Given the description of an element on the screen output the (x, y) to click on. 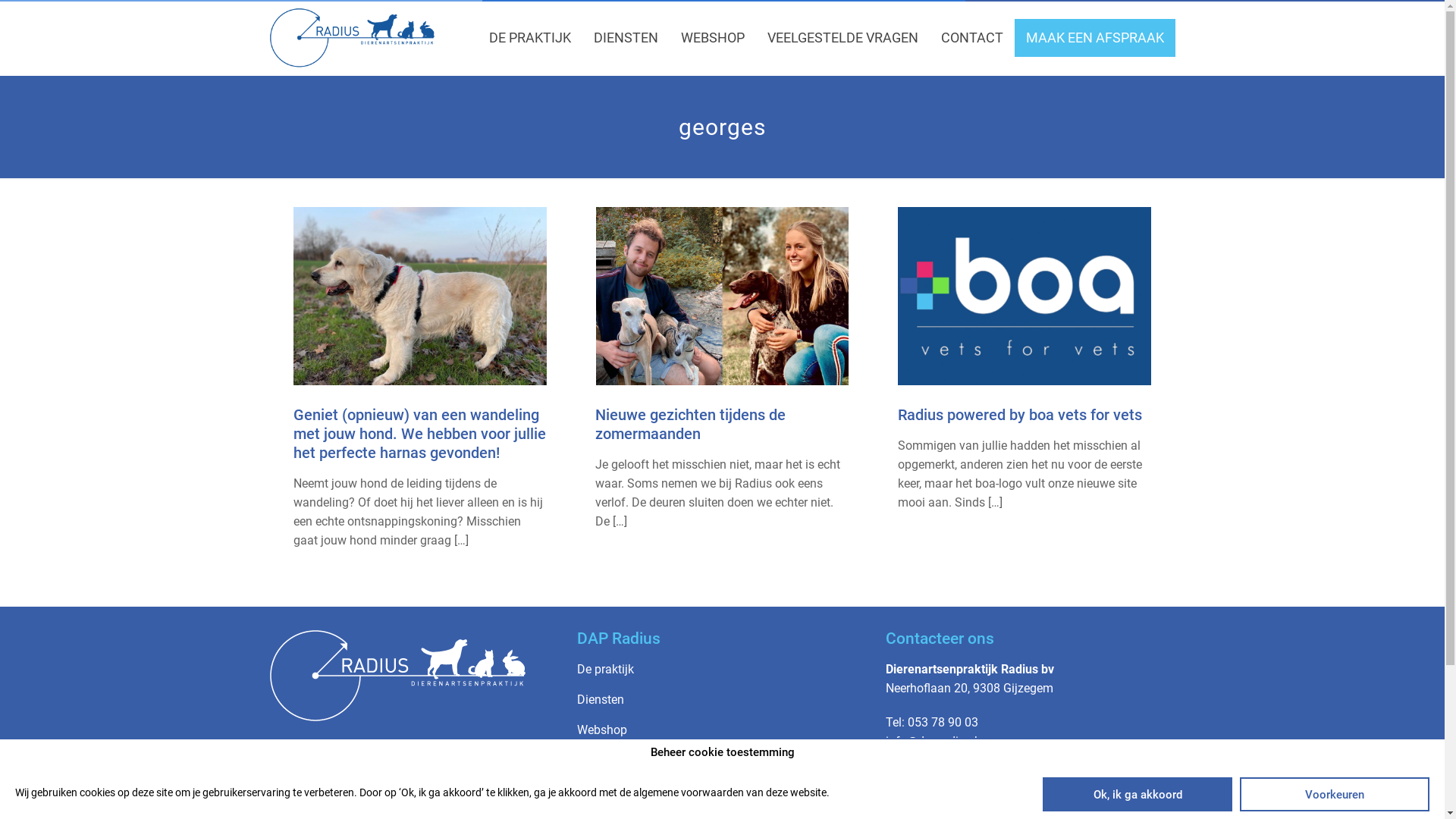
CONTACT Element type: text (971, 37)
WEBSHOP Element type: text (712, 37)
info@dapradius.be Element type: text (936, 741)
Nieuwe gezichten tijdens de zomermaanden Element type: text (690, 423)
Tel: 053 78 90 03 Element type: text (931, 722)
Radius Element type: hover (352, 37)
Webshop Element type: text (602, 729)
Radius powered by boa vets for vets Element type: text (1019, 414)
Veelgestelde vragen Element type: text (630, 760)
Ok, ik ga akkoord Element type: text (1137, 794)
VEELGESTELDE VRAGEN Element type: text (842, 37)
De praktijk Element type: text (605, 669)
DE PRAKTIJK Element type: text (529, 37)
MAAK EEN AFSPRAAK Element type: text (1094, 37)
DIENSTEN Element type: text (625, 37)
Contact Element type: text (597, 790)
Diensten Element type: text (600, 699)
algemene voorwaarden Element type: text (688, 792)
Voorkeuren Element type: text (1334, 794)
